Given the description of an element on the screen output the (x, y) to click on. 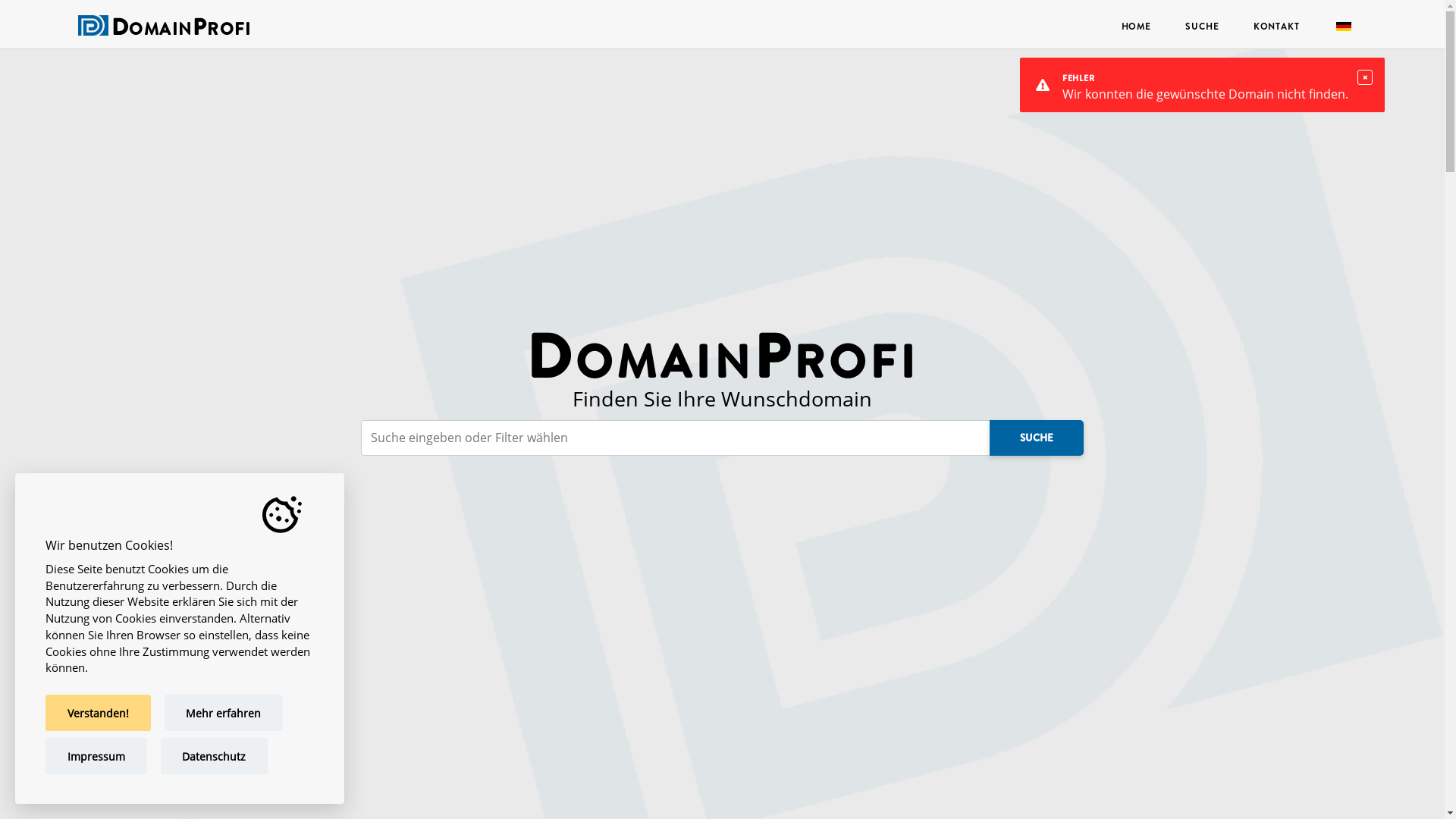
DOMAINPROFI Element type: text (180, 29)
HOME Element type: text (1136, 25)
Impressum Element type: text (96, 755)
Datenschutz Element type: text (214, 755)
submit Element type: text (50, 17)
Verstanden! Element type: text (97, 712)
SUCHE Element type: text (1202, 25)
SUCHE Element type: text (1036, 437)
KONTAKT Element type: text (1276, 25)
Mehr erfahren Element type: text (223, 712)
